Given the description of an element on the screen output the (x, y) to click on. 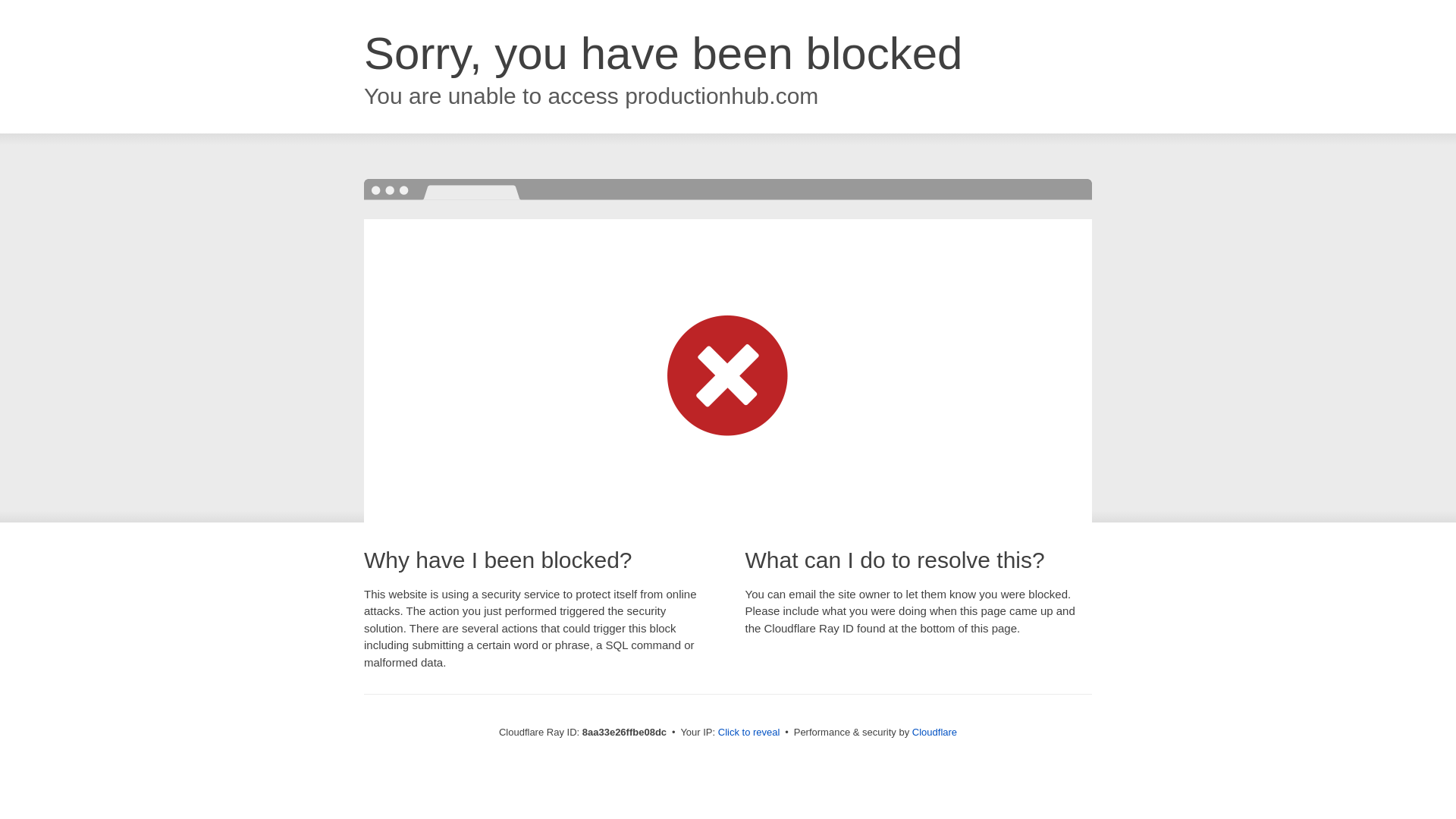
Cloudflare (934, 731)
Click to reveal (748, 732)
